Given the description of an element on the screen output the (x, y) to click on. 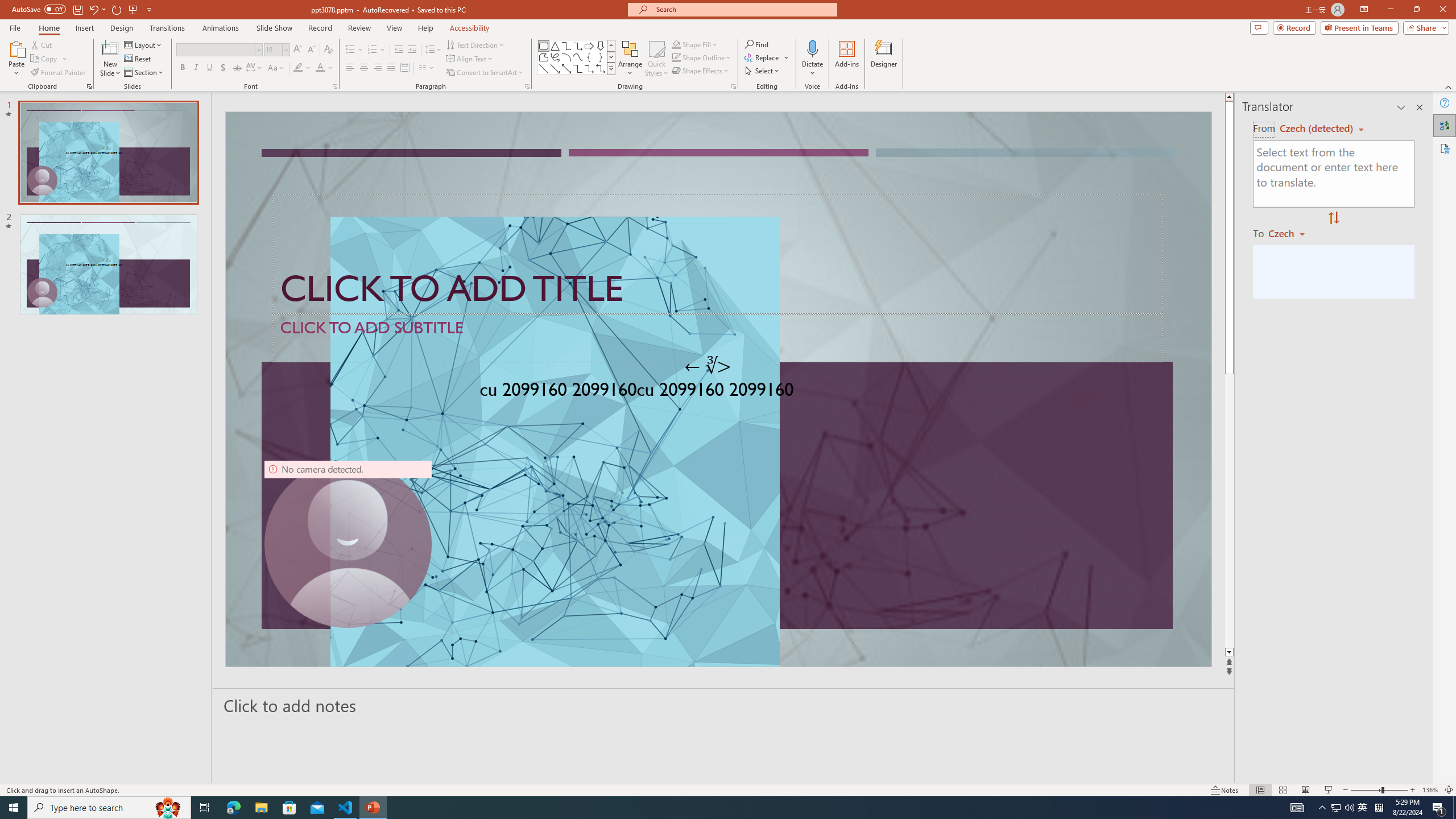
Czech (1291, 232)
